Given the description of an element on the screen output the (x, y) to click on. 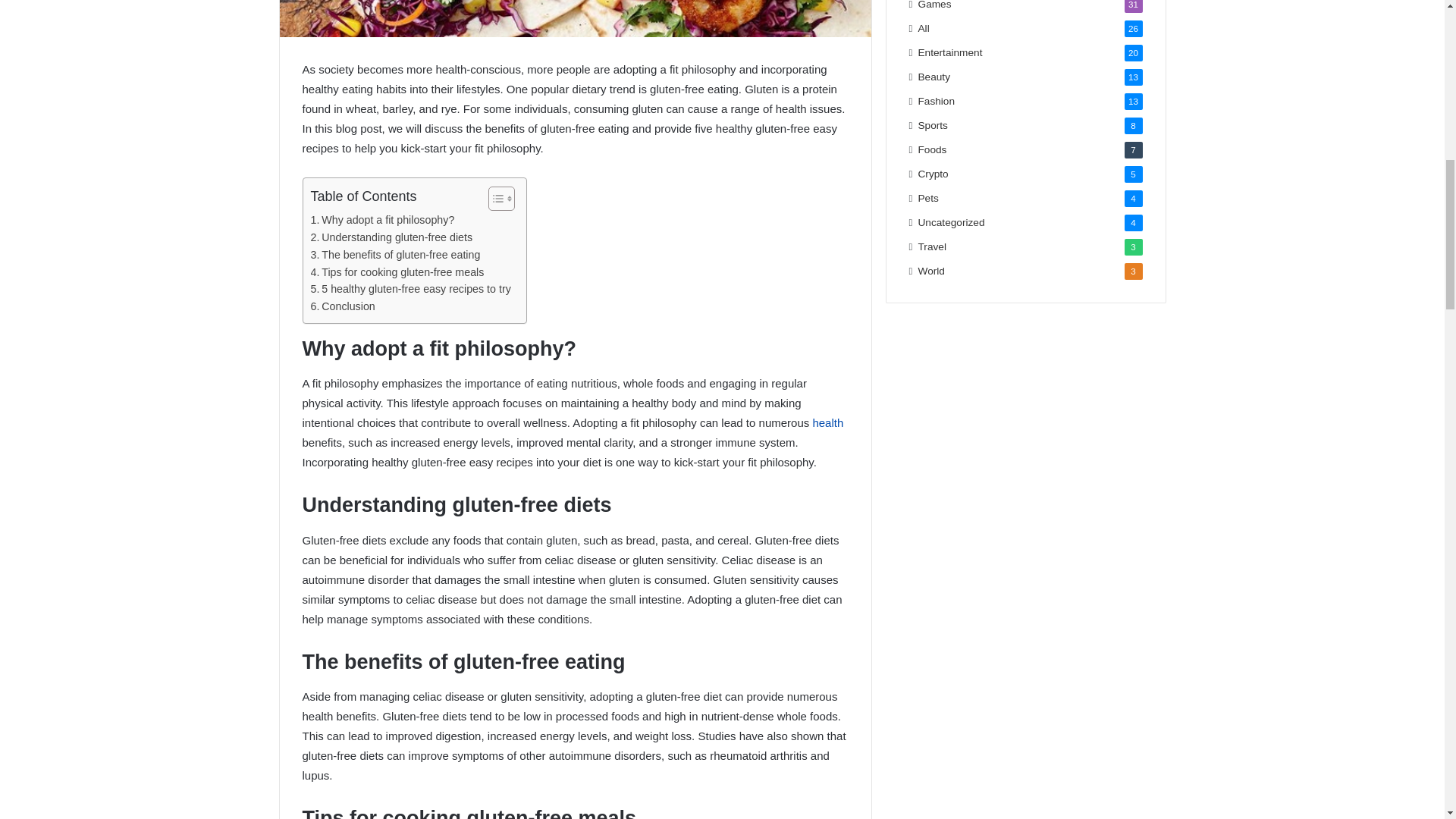
The benefits of gluten-free eating (395, 254)
The benefits of gluten-free eating (395, 254)
Why adopt a fit philosophy? (382, 220)
Tips for cooking gluten-free meals (397, 272)
Understanding gluten-free diets (392, 237)
5 healthy gluten-free easy recipes to try (411, 289)
health (827, 422)
Tips for cooking gluten-free meals (397, 272)
Understanding gluten-free diets (392, 237)
Conclusion (343, 306)
